Given the description of an element on the screen output the (x, y) to click on. 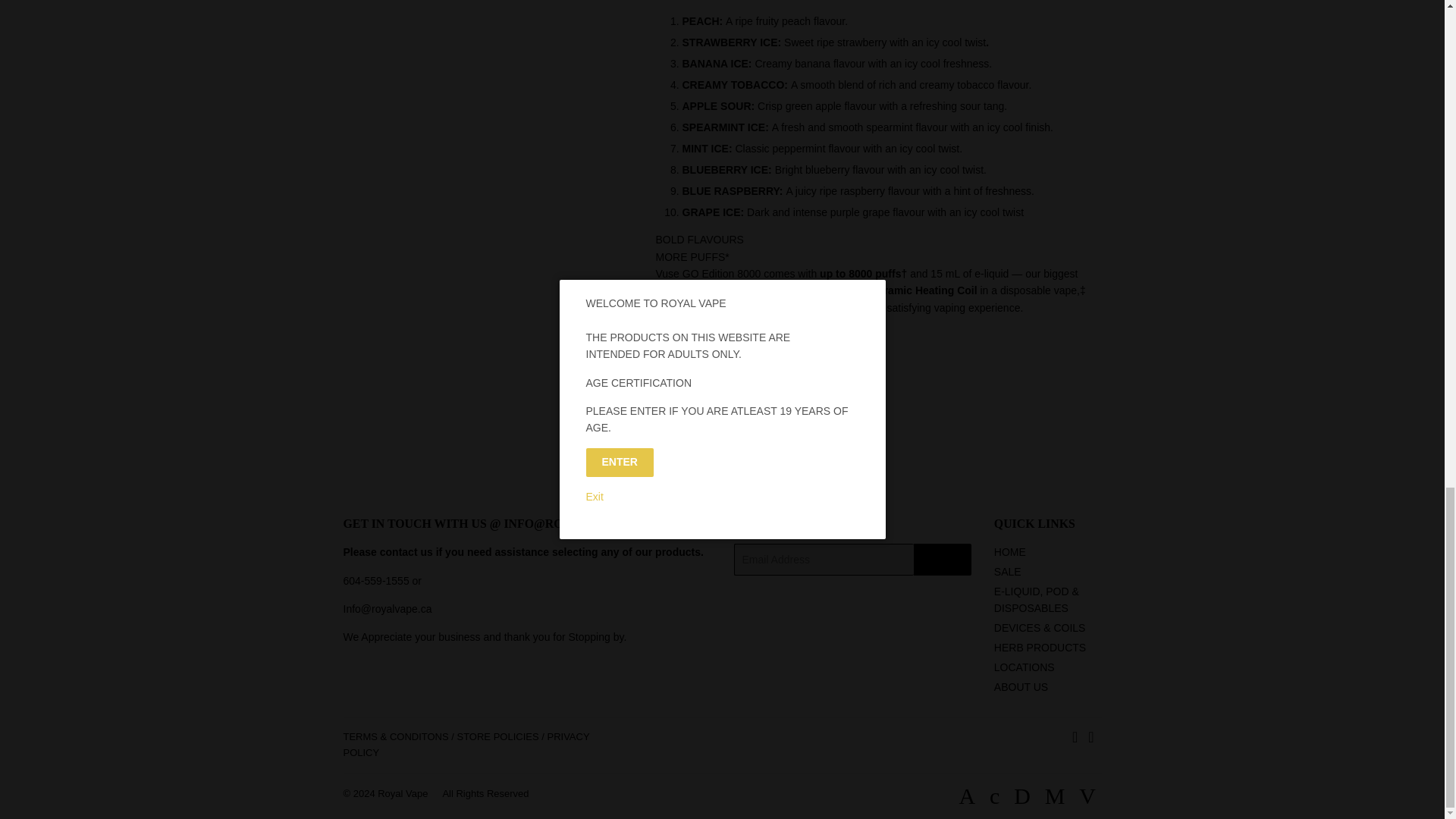
Pin on Pinterest (803, 408)
Share on Facebook (679, 408)
Tweet on Twitter (742, 408)
